Given the description of an element on the screen output the (x, y) to click on. 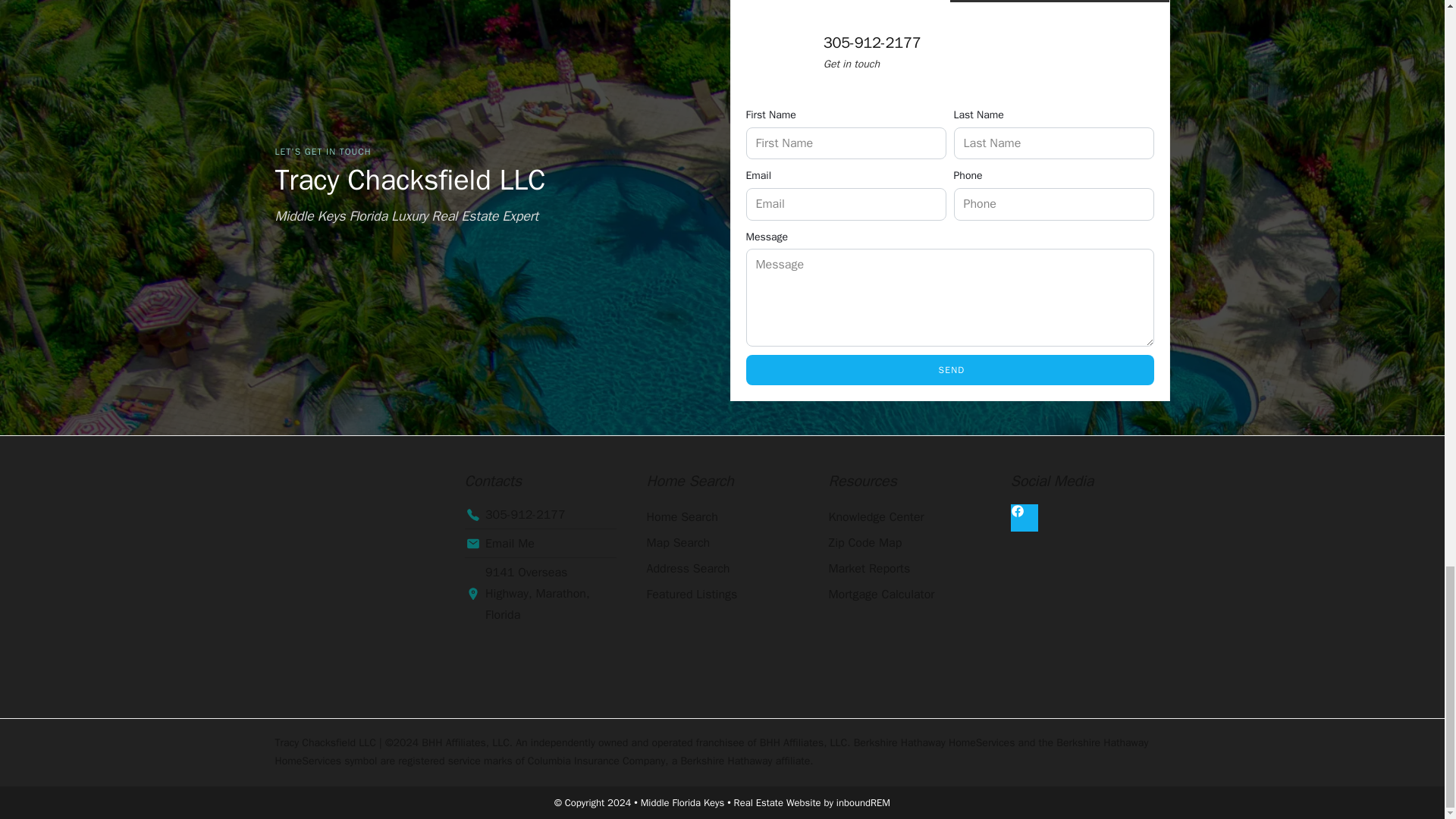
Featured Listings (721, 594)
SEND (949, 369)
Knowledge Center (903, 516)
305-912-2177 (539, 514)
Map Search (721, 542)
Zip Code Map (903, 542)
Mortgage Calculator (903, 594)
9141 Overseas Highway, Marathon, Florida (539, 593)
Email Me (539, 543)
Market Reports (903, 568)
Home Search (721, 516)
305-912-2177 (872, 42)
Address Search (721, 568)
DMCA.com Protection Status (357, 622)
